Given the description of an element on the screen output the (x, y) to click on. 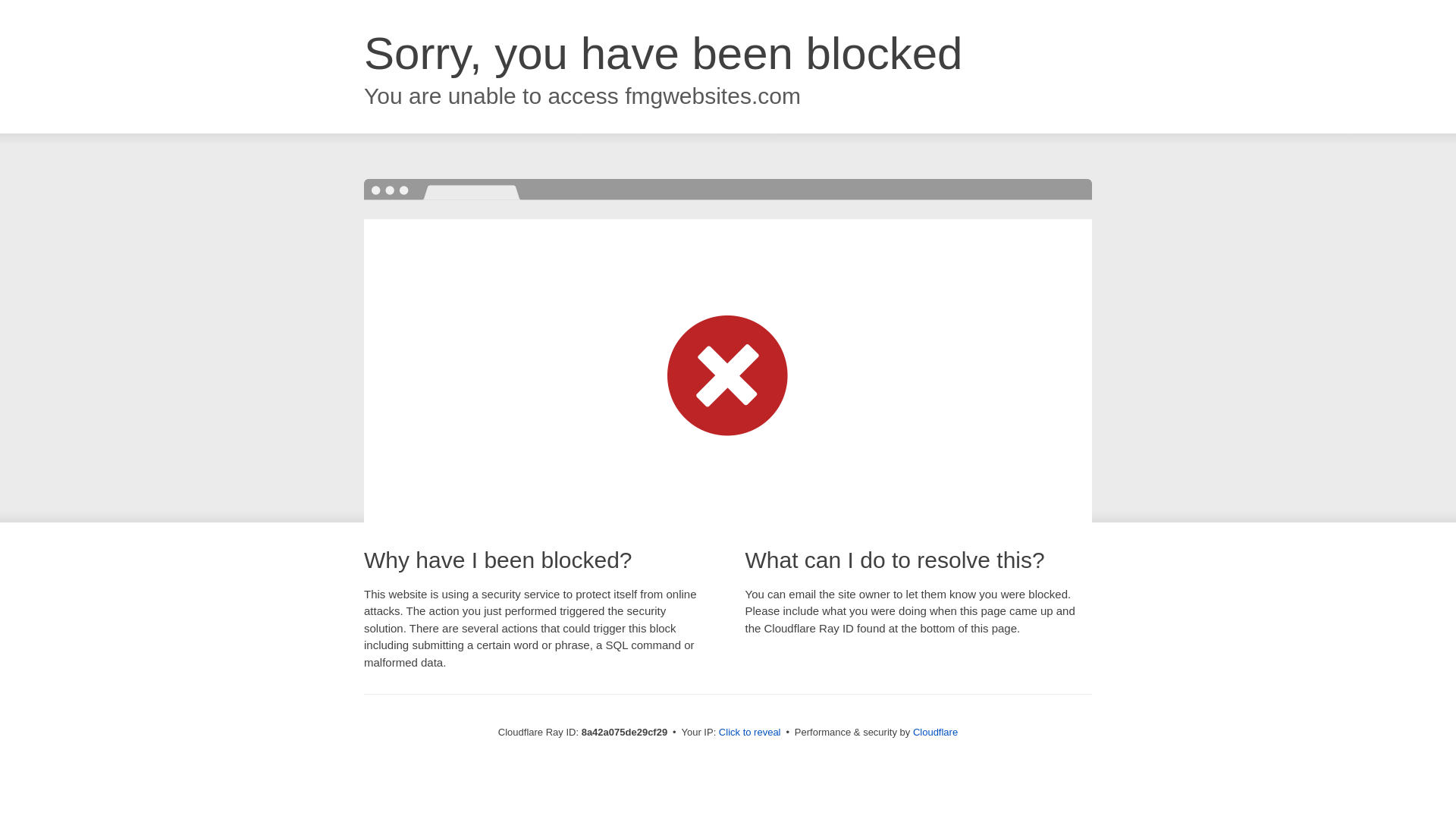
Cloudflare (935, 731)
Click to reveal (749, 732)
